Given the description of an element on the screen output the (x, y) to click on. 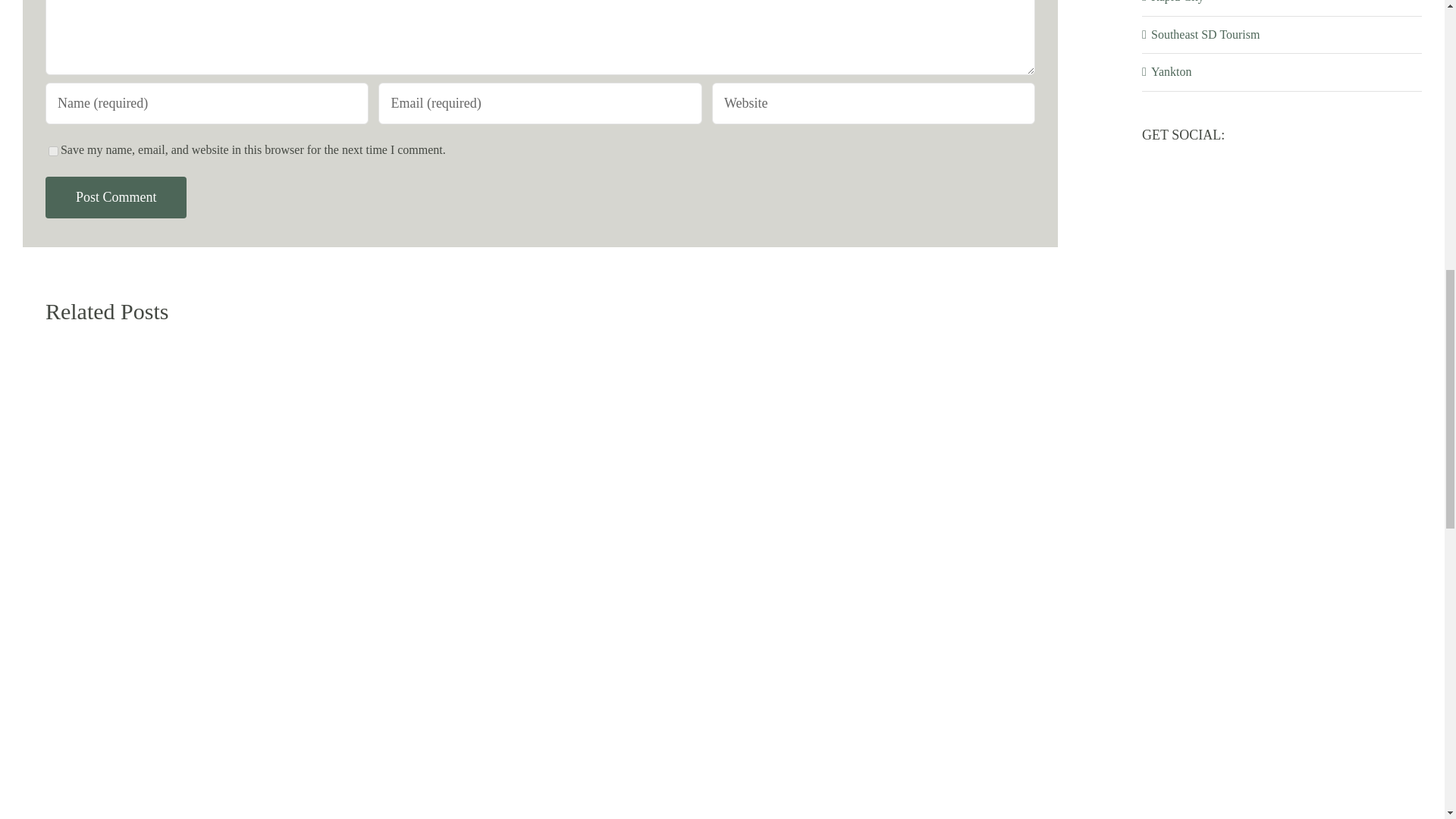
Post Comment (116, 197)
yes (53, 151)
Post Comment (116, 197)
